Given the description of an element on the screen output the (x, y) to click on. 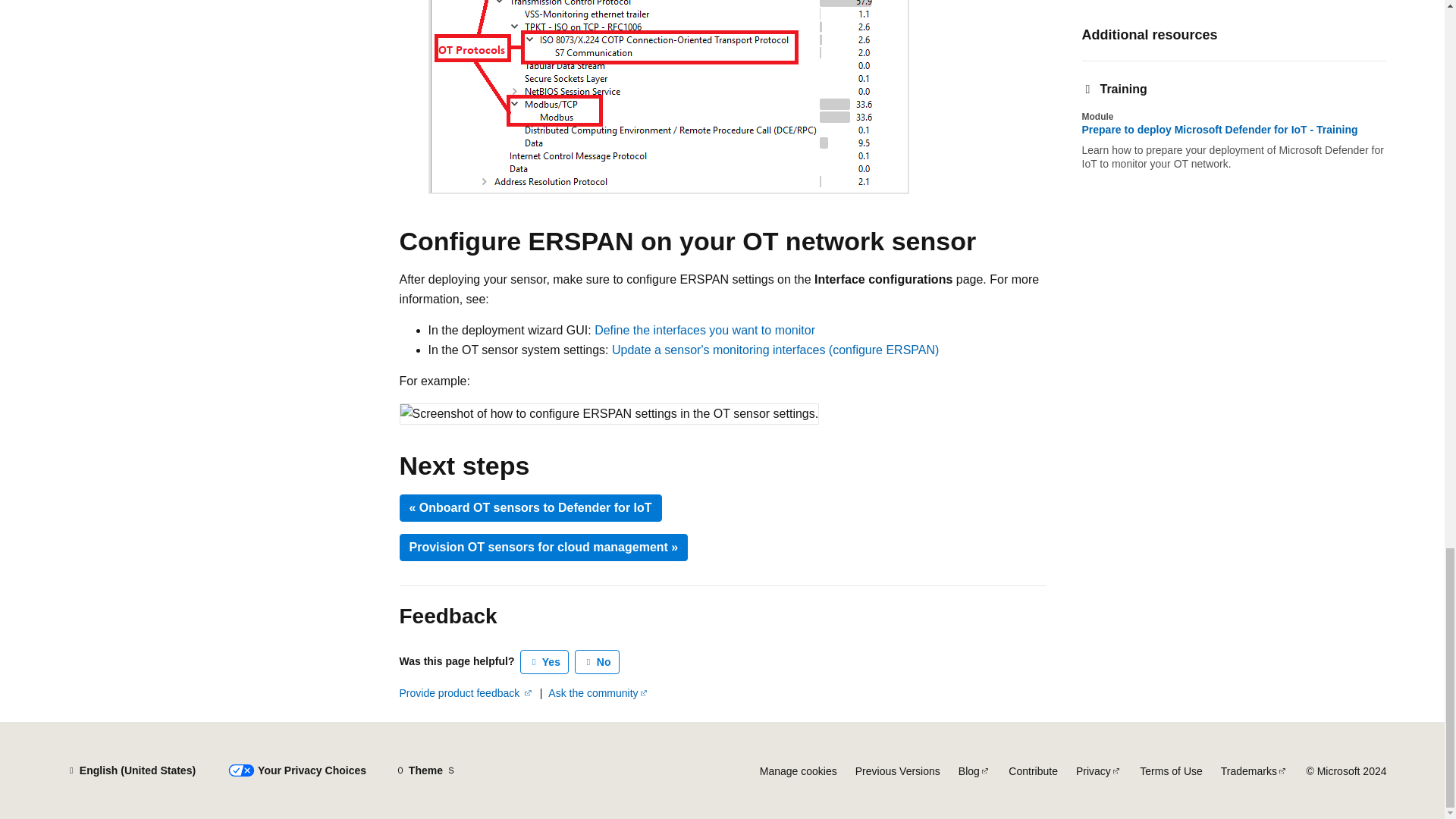
This article is helpful (544, 662)
Theme (425, 770)
This article is not helpful (597, 662)
